Given the description of an element on the screen output the (x, y) to click on. 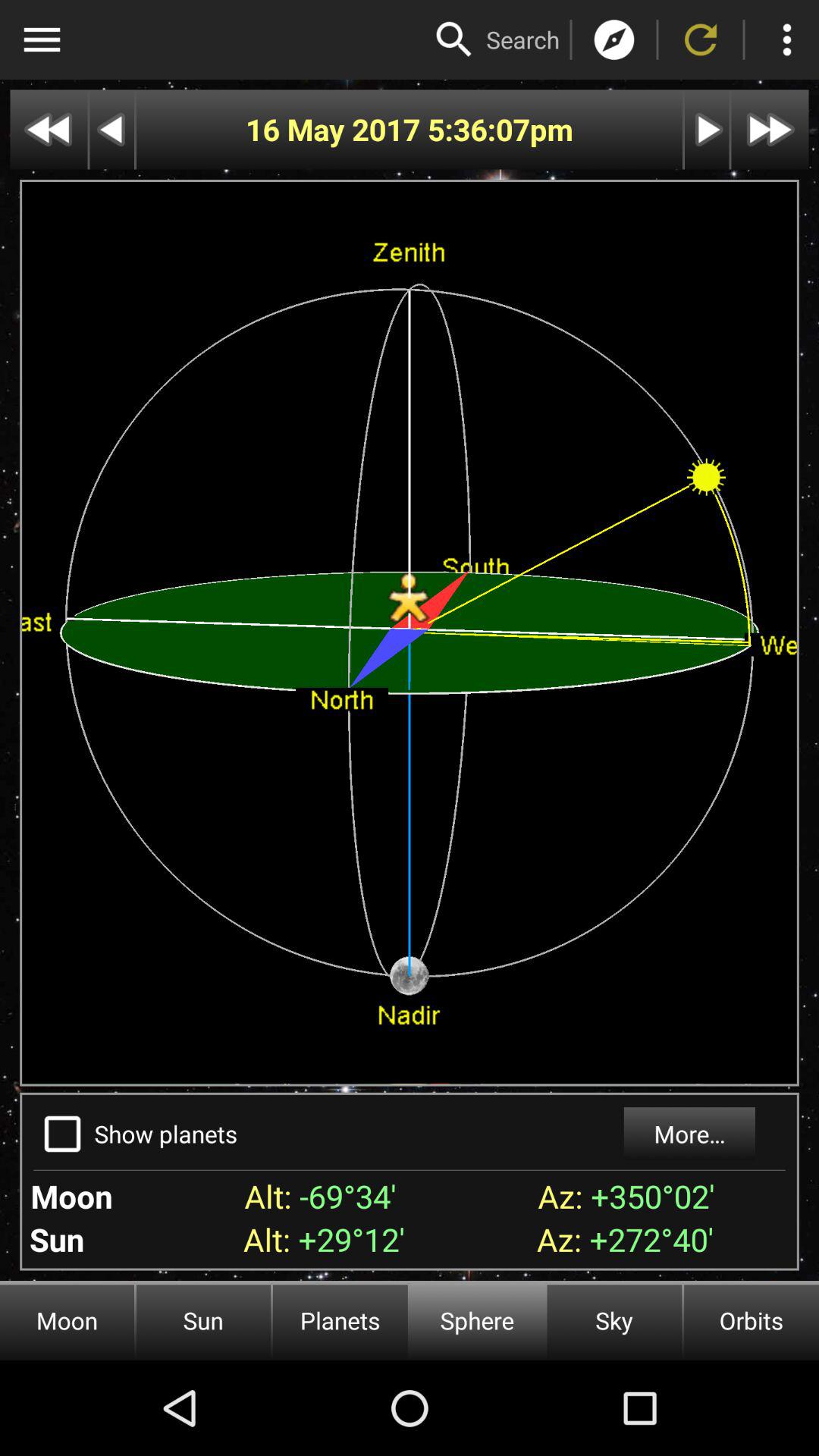
next (706, 129)
